Given the description of an element on the screen output the (x, y) to click on. 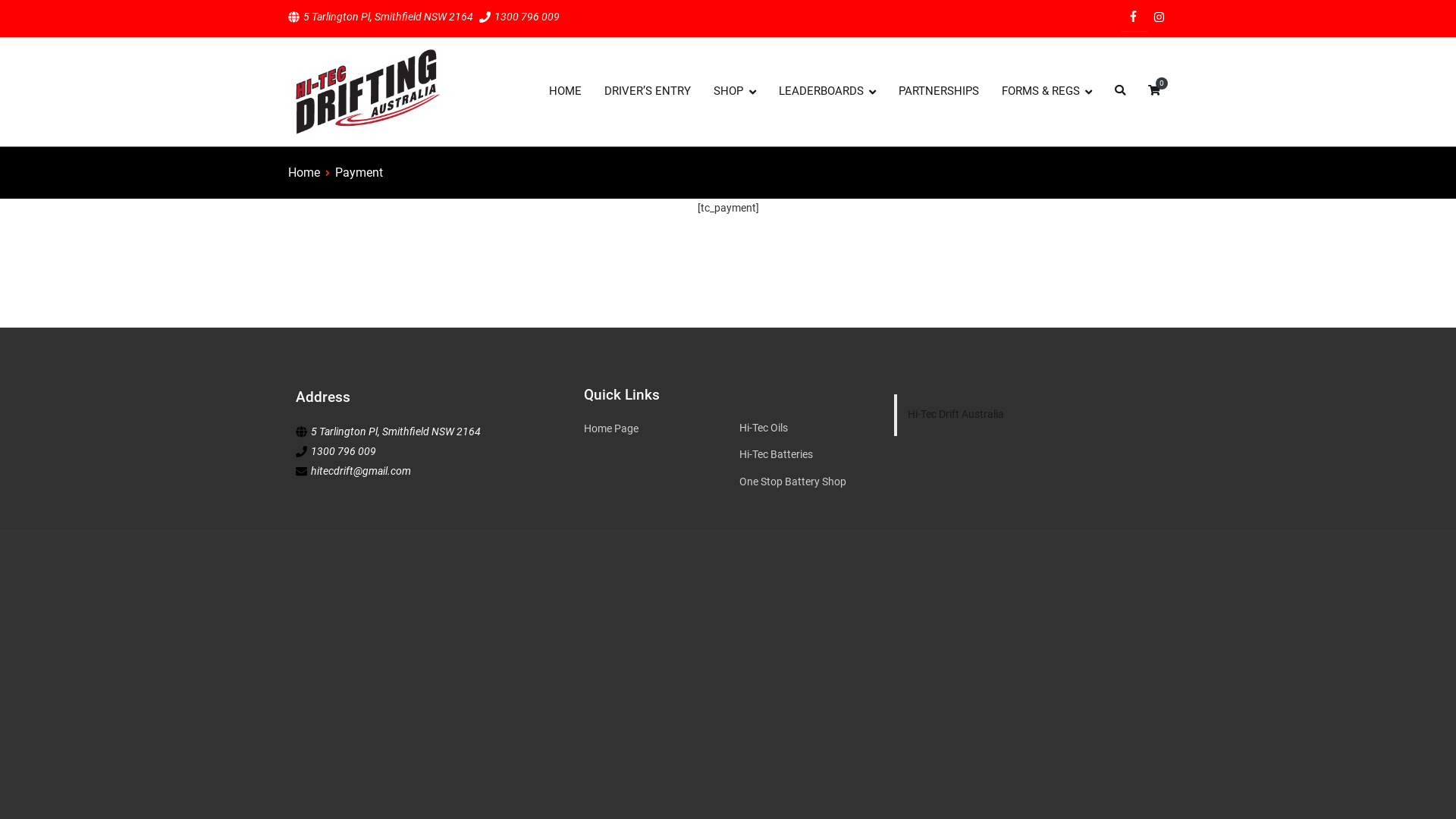
HOME Element type: text (565, 91)
Home Element type: text (304, 172)
Hi-Tec Drifting Australia Element type: text (530, 101)
1300 796 009 Element type: text (343, 451)
LEADERBOARDS Element type: text (826, 91)
Hi-Tec Oils Element type: text (805, 427)
Home Page Element type: text (661, 428)
SHOP Element type: text (734, 91)
hitecdrift@gmail.com Element type: text (360, 470)
PARTNERSHIPS Element type: text (938, 91)
Hi-Tec Drift Australia Element type: text (955, 413)
FORMS & REGS Element type: text (1046, 91)
One Stop Battery Shop Element type: text (805, 481)
1300 796 009 Element type: text (526, 16)
0 Element type: text (1154, 91)
Hi-Tec Batteries Element type: text (805, 454)
